Given the description of an element on the screen output the (x, y) to click on. 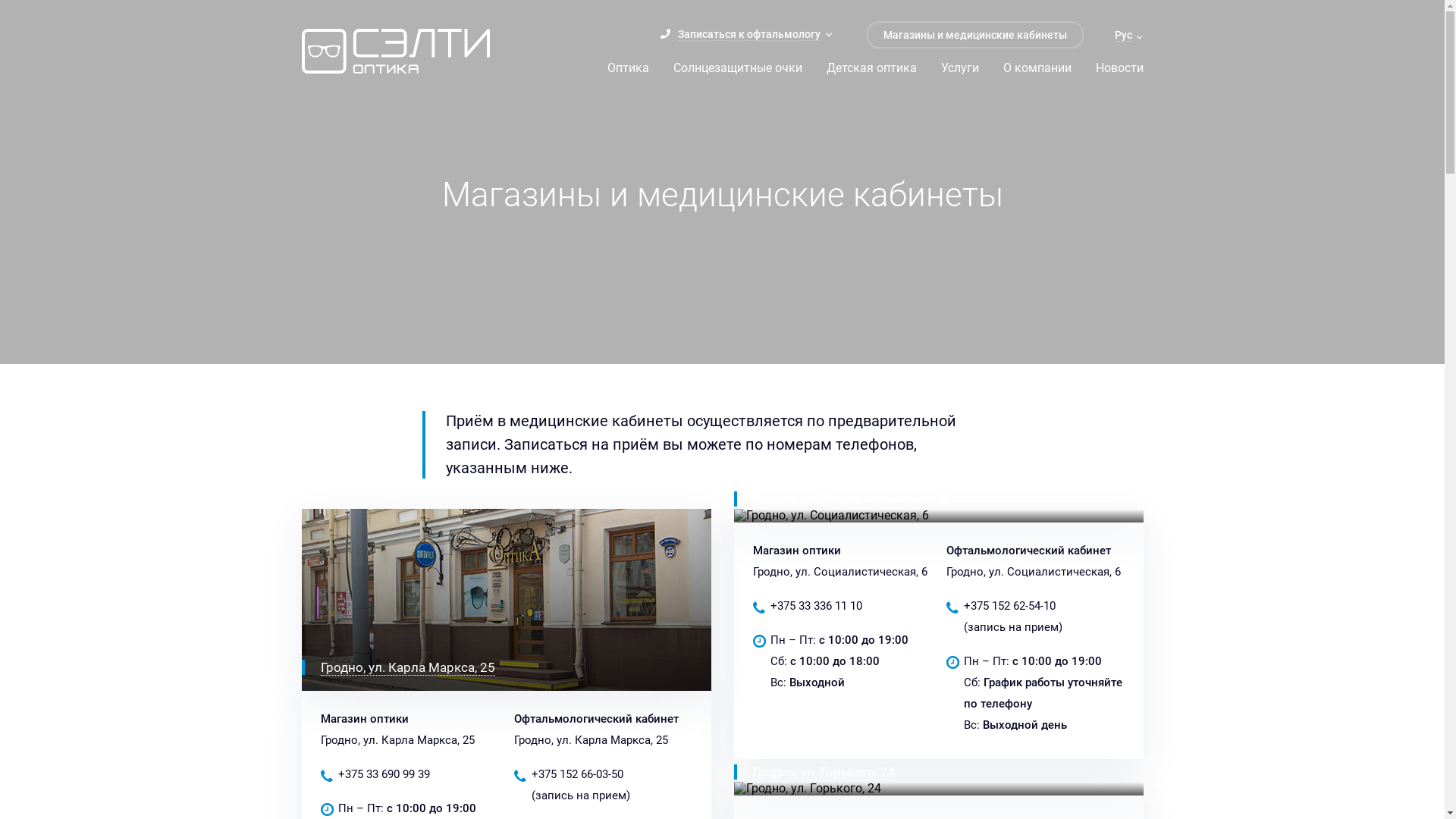
+375 33 690 99 39 Element type: text (383, 774)
+375 33 336 11 10 Element type: text (816, 605)
+375 152 62-54-10 Element type: text (1008, 605)
+375 152 66-03-50 Element type: text (576, 774)
